Given the description of an element on the screen output the (x, y) to click on. 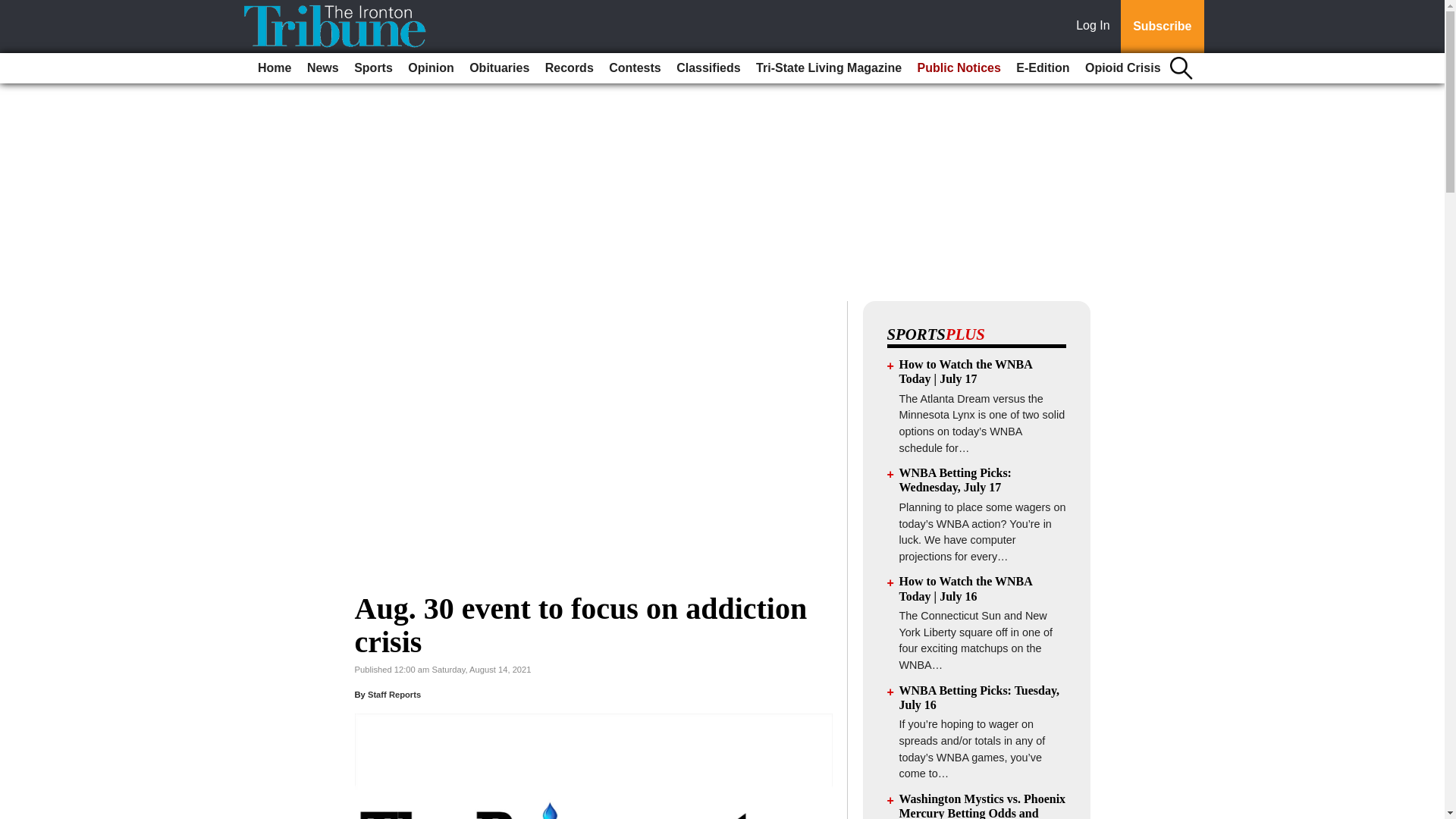
Contests (634, 68)
Staff Reports (394, 694)
Log In (1095, 26)
Opinion (430, 68)
Tri-State Living Magazine (828, 68)
WNBA Betting Picks: Wednesday, July 17 (955, 479)
E-Edition (1042, 68)
WNBA Betting Picks: Tuesday, July 16 (979, 697)
Records (568, 68)
Sports (372, 68)
Subscribe (1162, 26)
Public Notices (959, 68)
Home (274, 68)
News (323, 68)
Classifieds (707, 68)
